Given the description of an element on the screen output the (x, y) to click on. 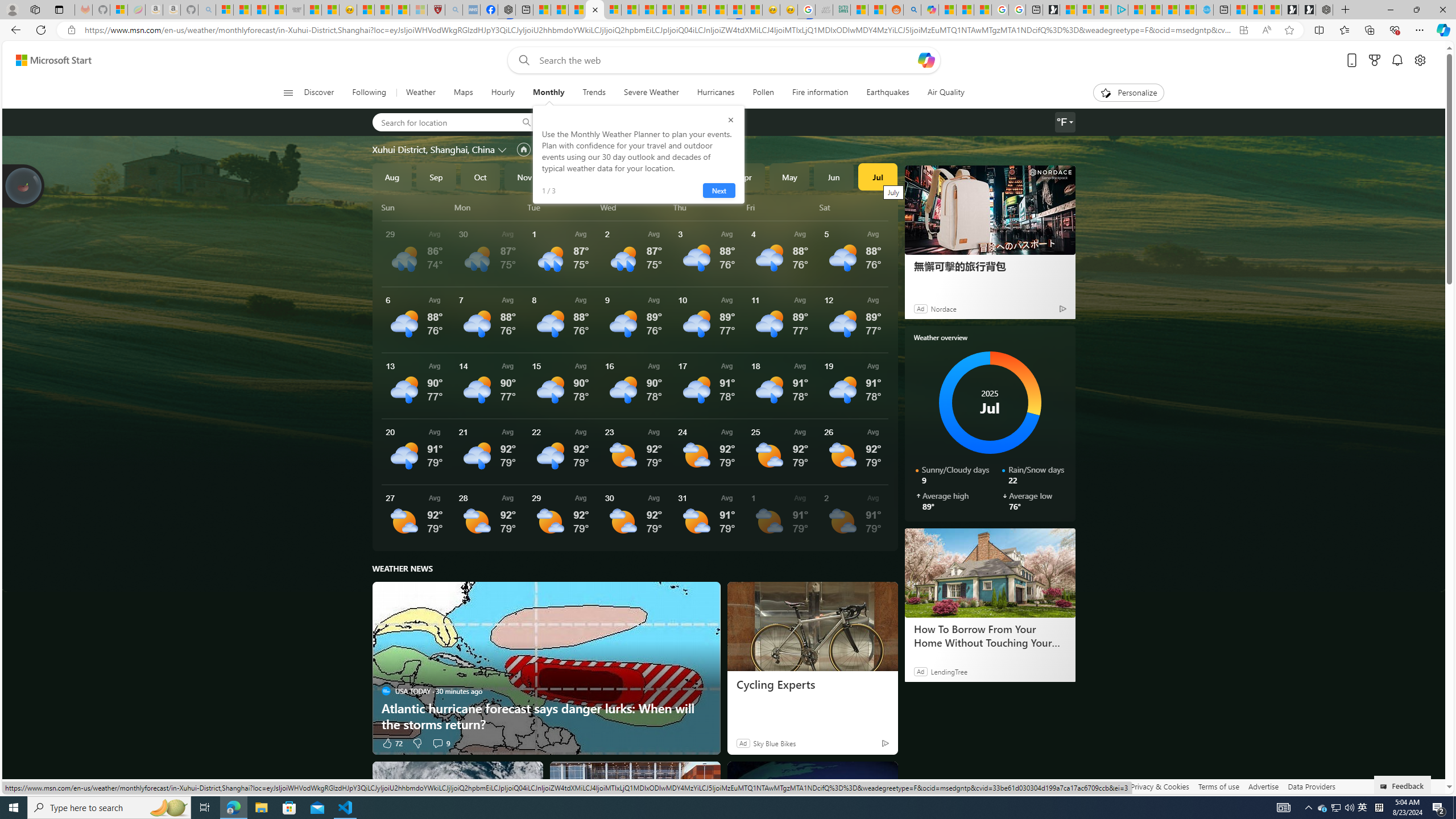
Jul (877, 176)
Dislike (417, 742)
Microsoft Copilot in Bing (929, 9)
Sky Blue Bikes (773, 742)
Robert H. Shmerling, MD - Harvard Health (435, 9)
Your Privacy Choices (987, 786)
